Given the description of an element on the screen output the (x, y) to click on. 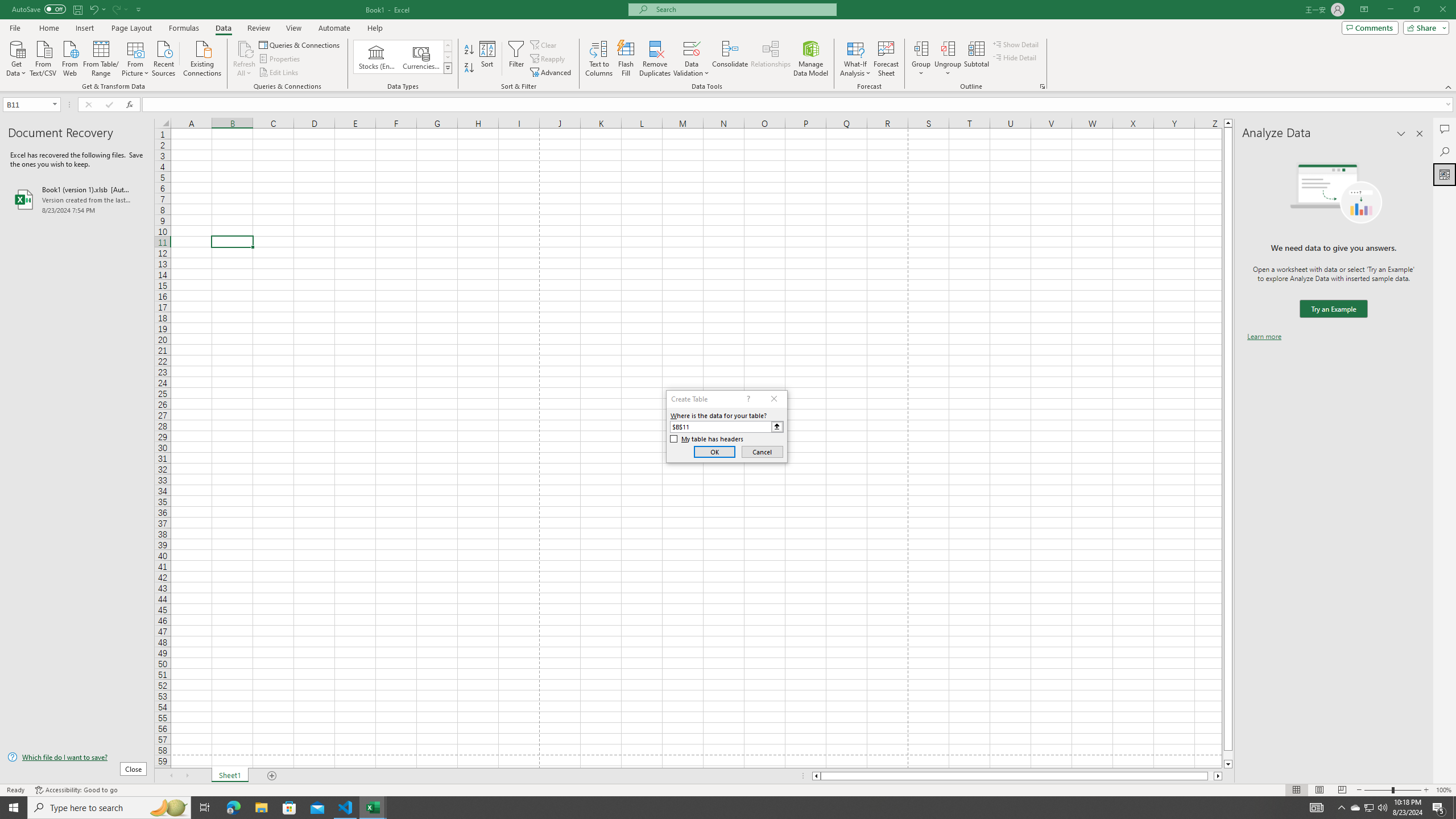
Restore Down (1416, 9)
Automate (334, 28)
Hide Detail (1014, 56)
What-If Analysis (855, 58)
Home (48, 28)
Sort A to Z (469, 49)
Quick Access Toolbar (77, 9)
Stocks (English) (375, 56)
Add Sheet (272, 775)
Row Down (448, 56)
Get Data (16, 57)
Insert (83, 28)
Currencies (English) (420, 56)
